Given the description of an element on the screen output the (x, y) to click on. 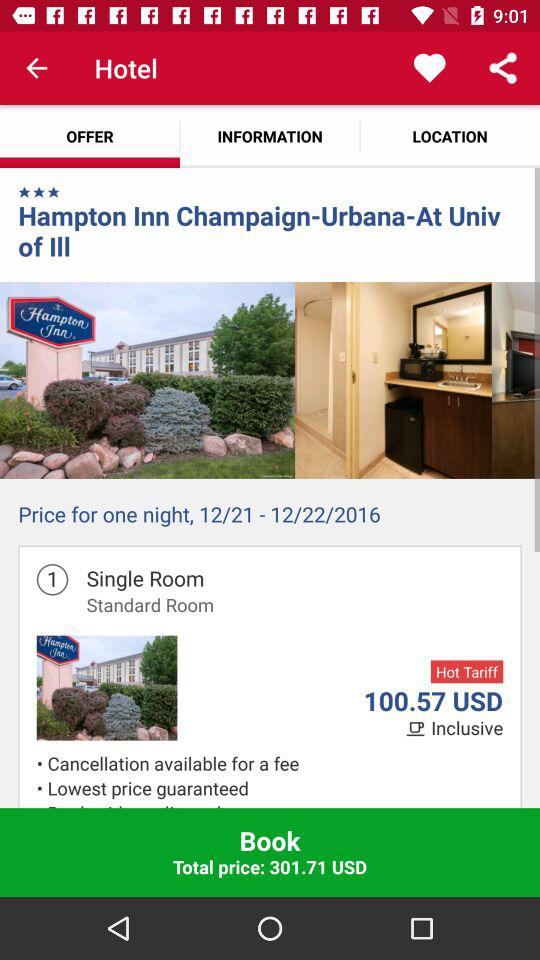
launch item above the offer icon (36, 68)
